Given the description of an element on the screen output the (x, y) to click on. 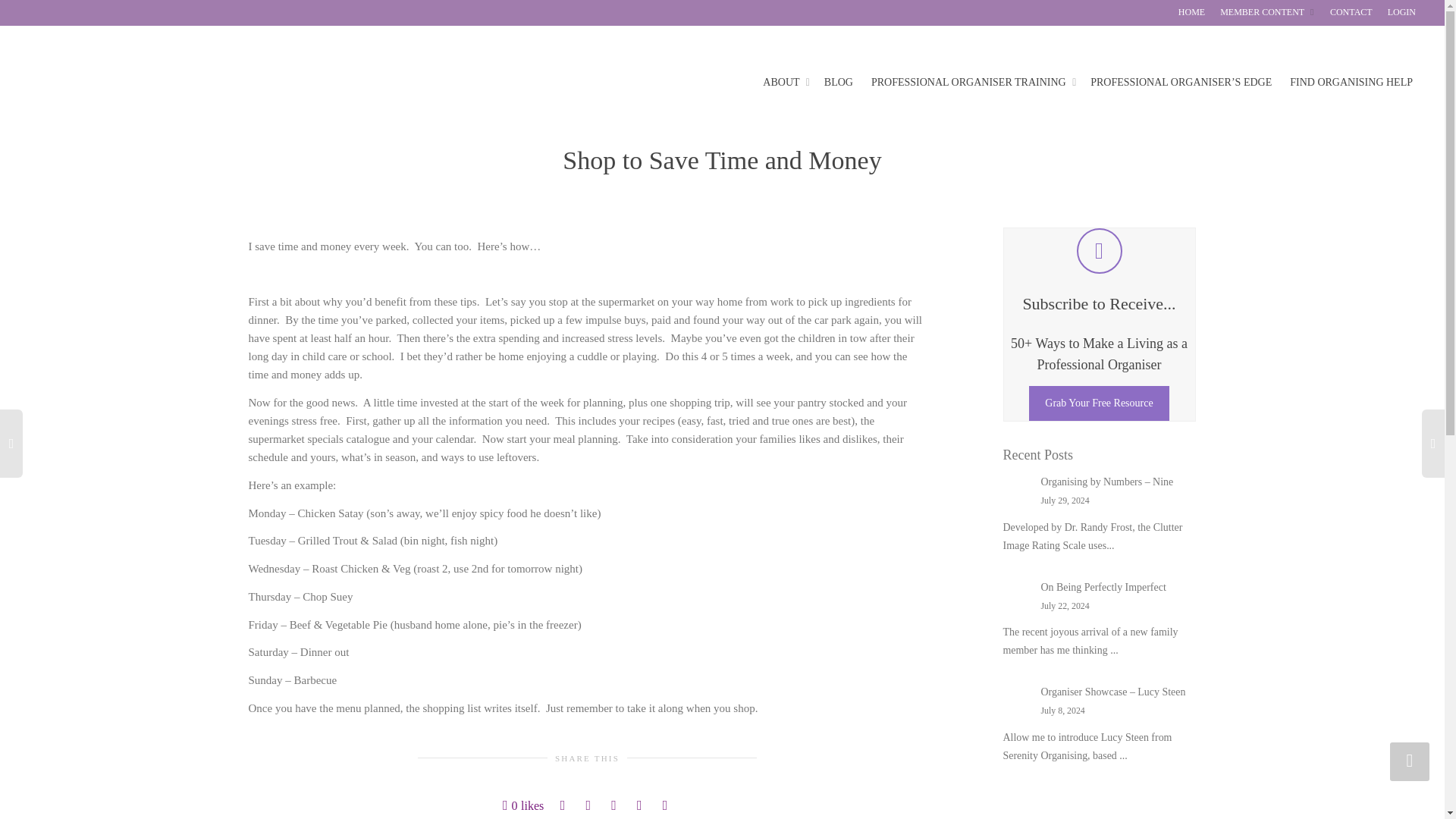
Home (1191, 12)
Contact (1350, 12)
Grab Your Free Resource (1099, 402)
FIND ORGANISING HELP (1351, 82)
Professional Organiser Training (970, 82)
0 likes (522, 805)
Login (1401, 12)
PROFESSIONAL ORGANISER TRAINING (970, 82)
CONTACT (1350, 12)
Member Content (1268, 12)
HOME (1191, 12)
LOGIN (1401, 12)
MEMBER CONTENT (1268, 12)
